Given the description of an element on the screen output the (x, y) to click on. 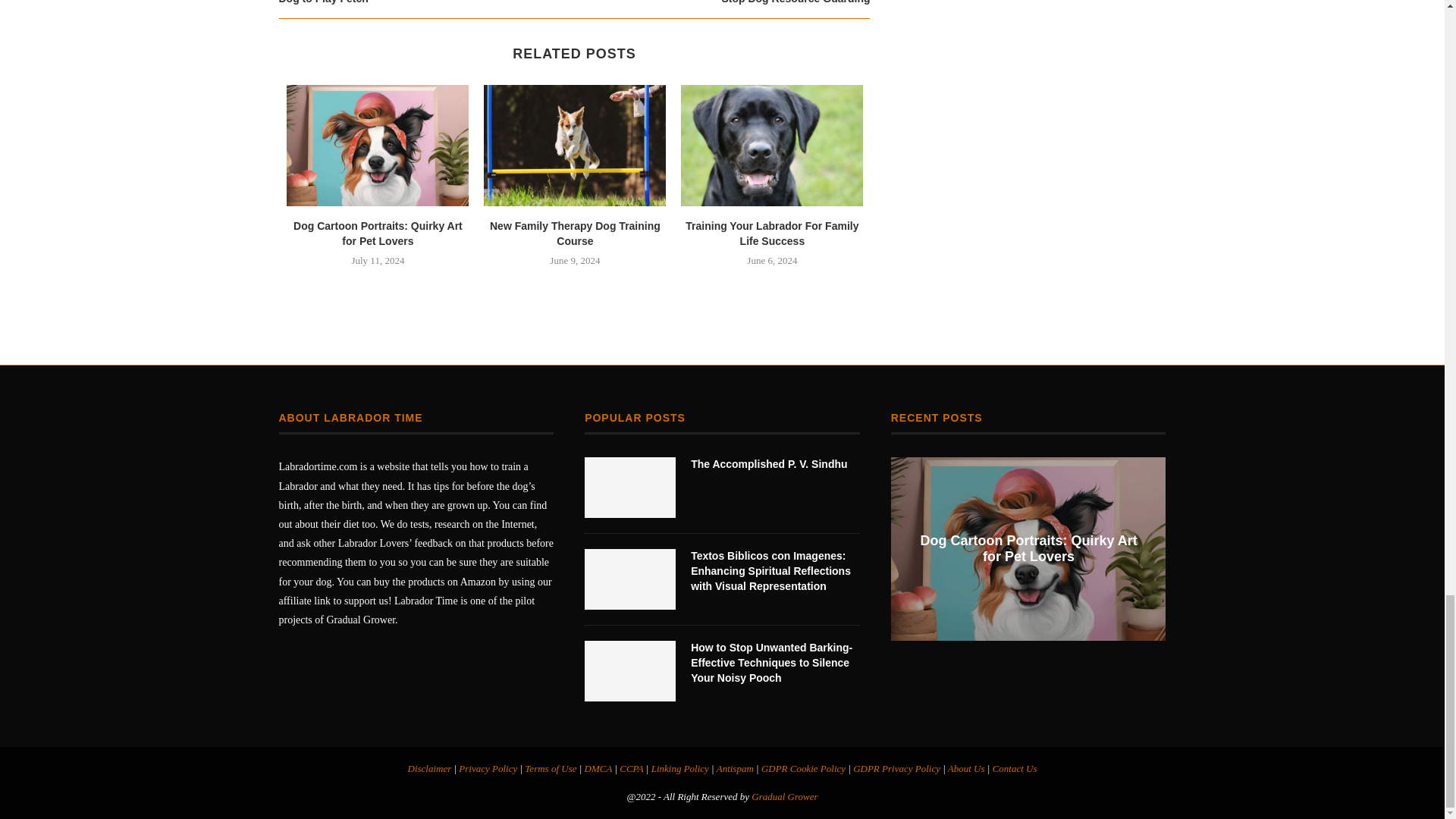
Training Your Labrador For Family Life Success (772, 145)
New Family Therapy Dog Training Course (574, 145)
Dog Cartoon Portraits: Quirky Art for Pet Lovers (378, 233)
Dog Cartoon Portraits: Quirky Art for Pet Lovers (377, 145)
